Given the description of an element on the screen output the (x, y) to click on. 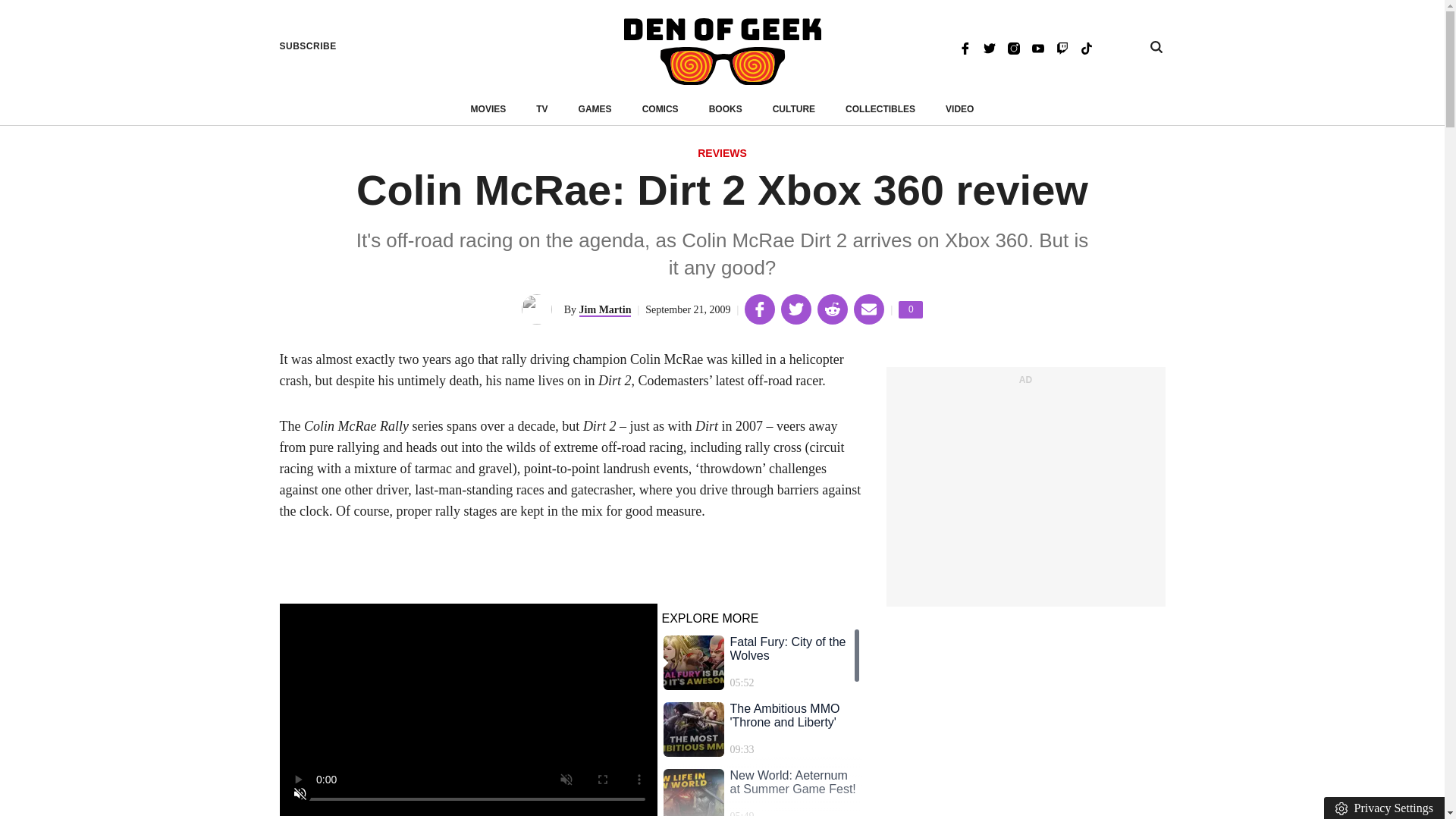
SUBSCRIBE (307, 46)
3rd party ad content (1024, 493)
Jim Martin (605, 309)
Instagram (1013, 46)
REVIEWS (721, 153)
COLLECTIBLES (880, 109)
Twitch (1061, 46)
BOOKS (725, 109)
MOVIES (488, 109)
TikTok (1085, 46)
Den of Geek (910, 309)
VIDEO (722, 52)
Twitter (959, 109)
COMICS (988, 46)
